Given the description of an element on the screen output the (x, y) to click on. 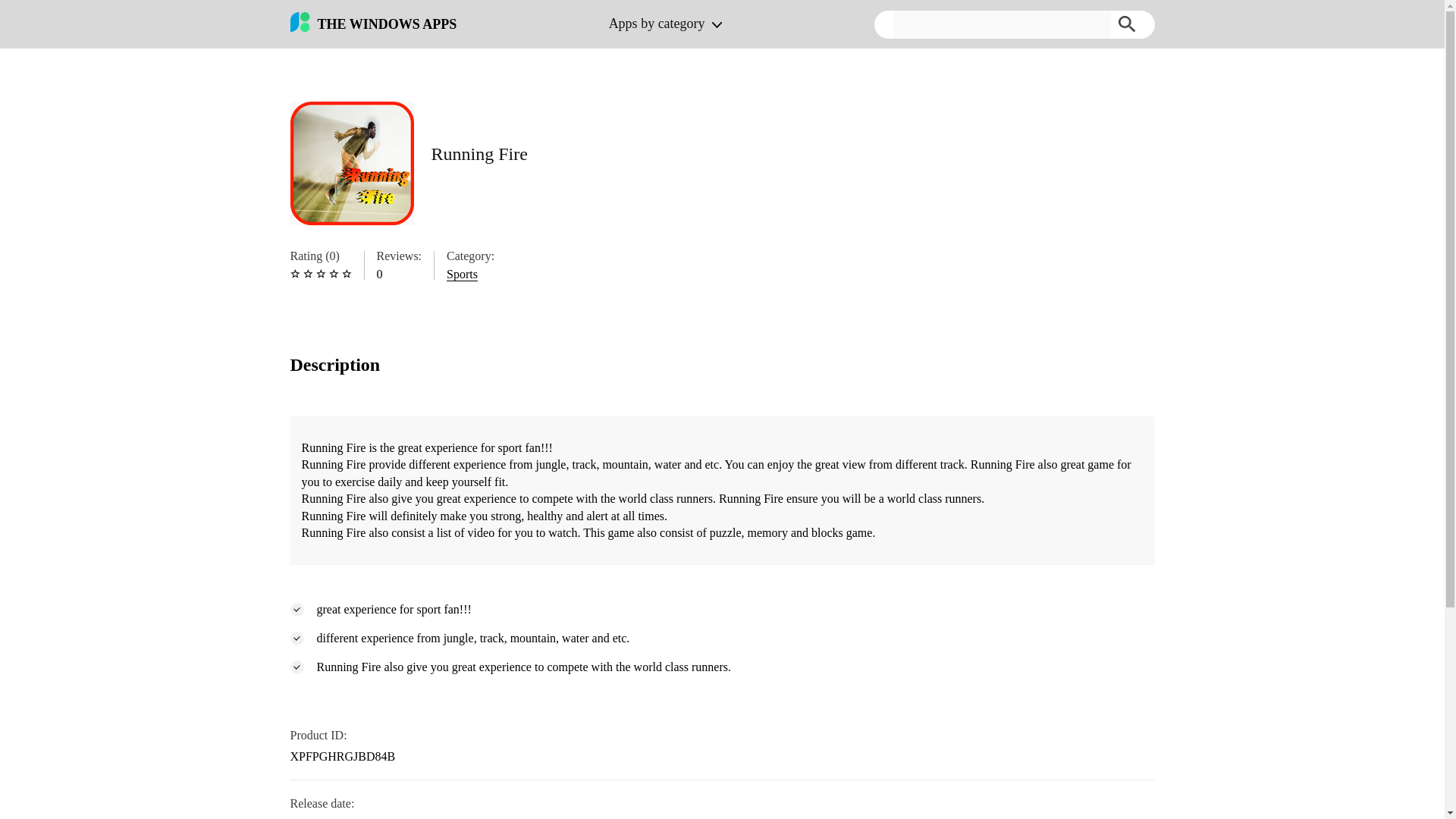
THE WINDOWS APPS (373, 24)
Sports (461, 273)
